Given the description of an element on the screen output the (x, y) to click on. 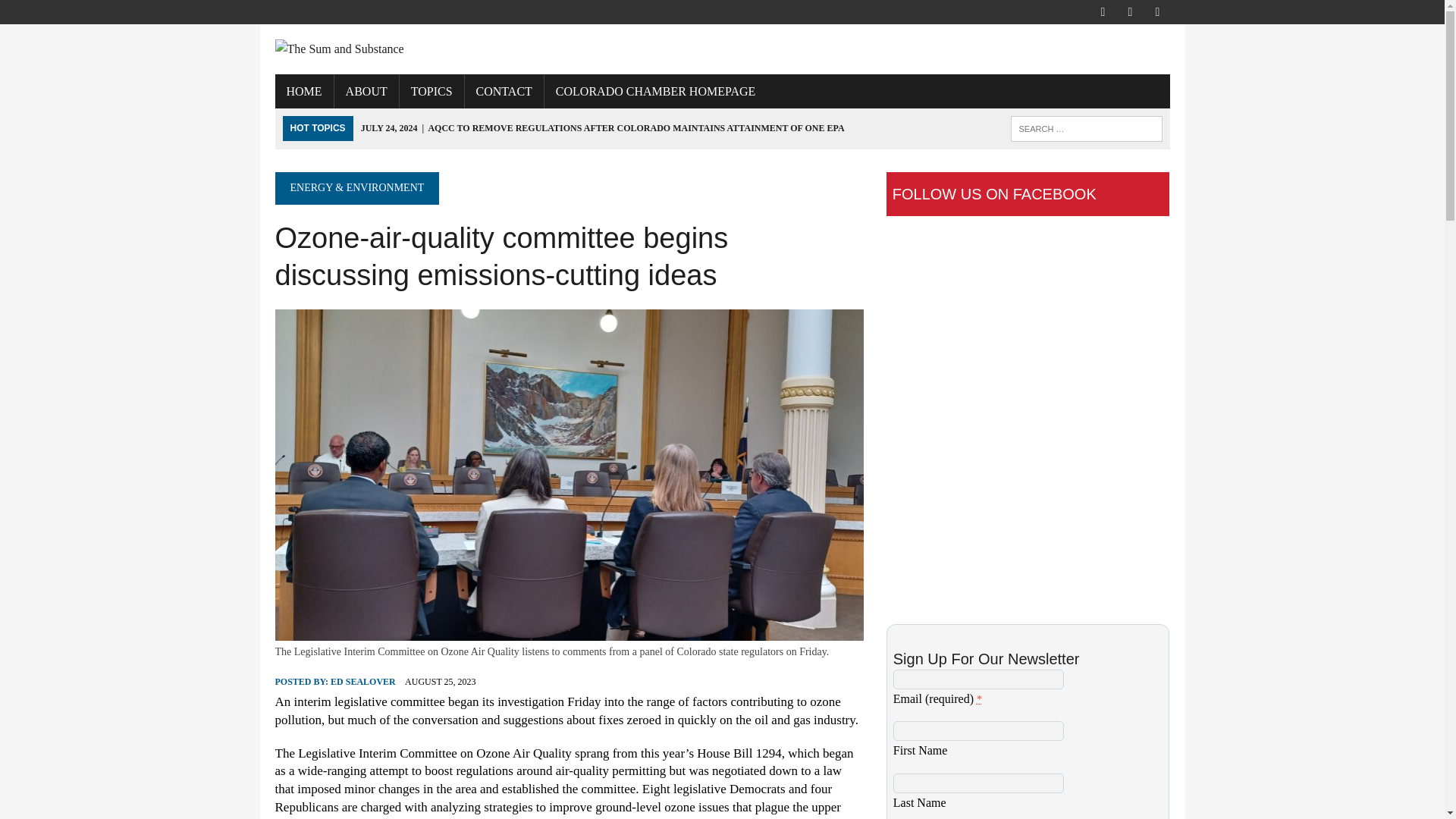
The Sum and Substance (722, 48)
ABOUT (366, 91)
HOME (304, 91)
TOPICS (431, 91)
